Given the description of an element on the screen output the (x, y) to click on. 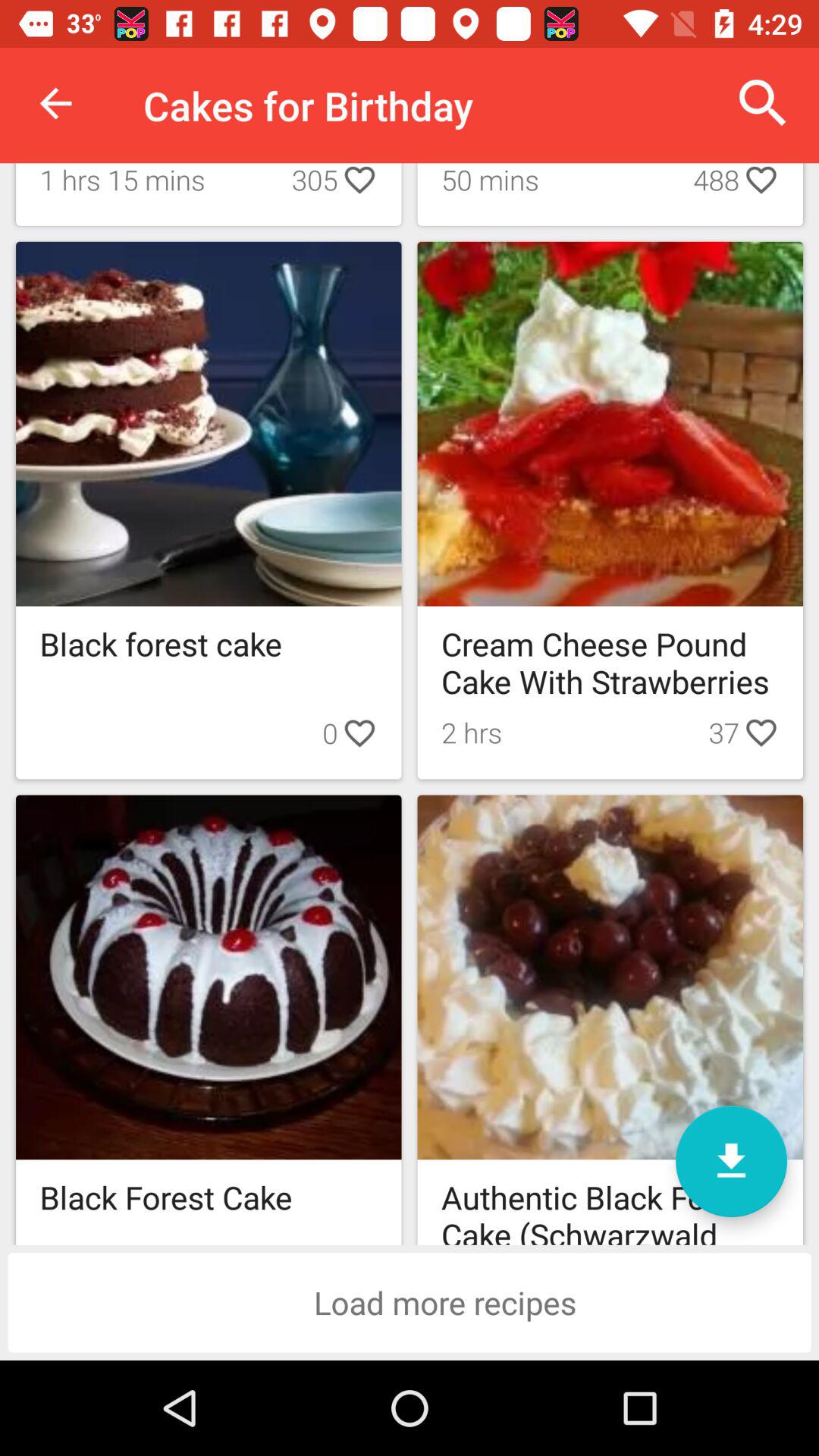
open downloaded image (731, 1161)
